Given the description of an element on the screen output the (x, y) to click on. 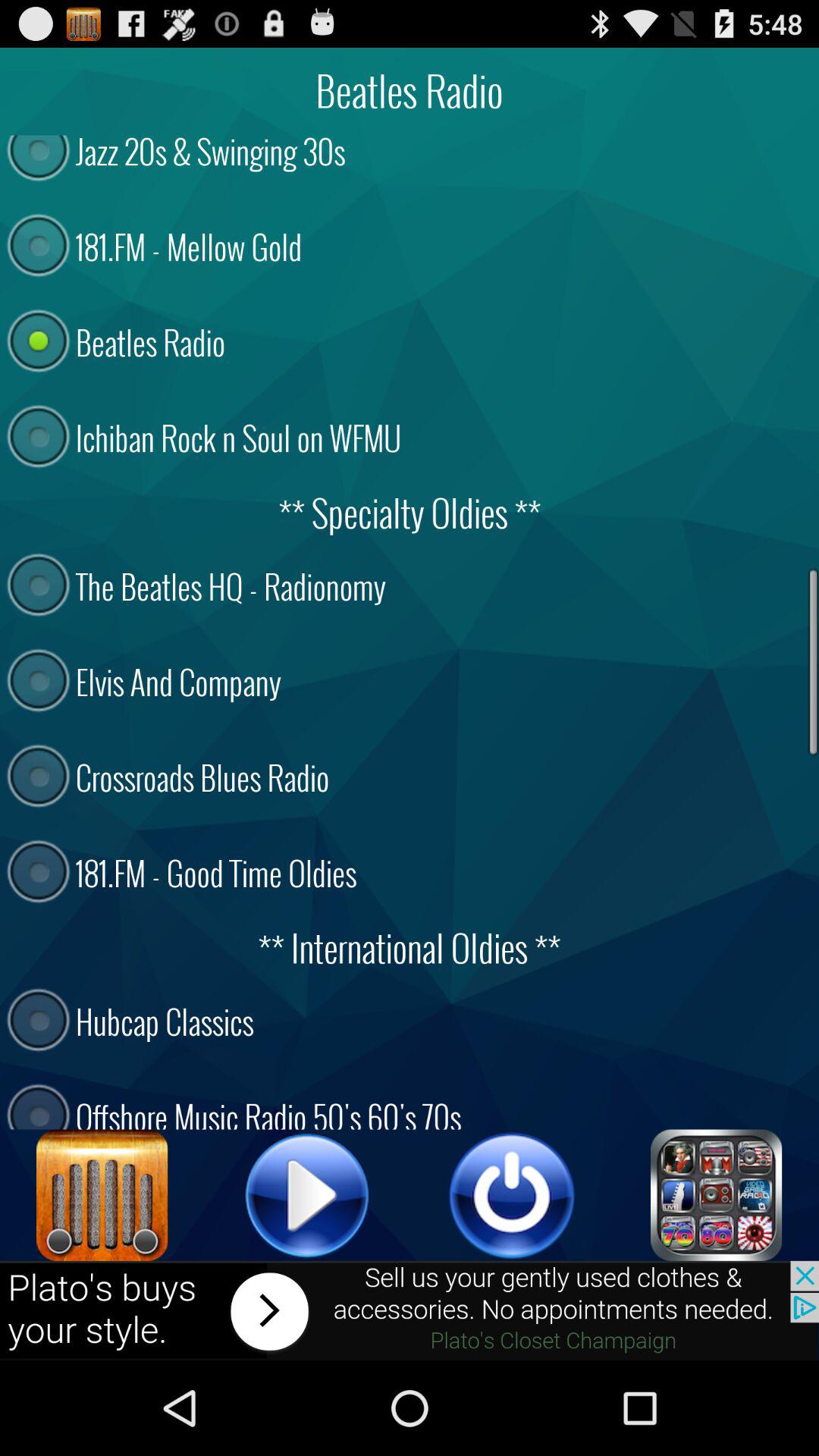
play button (306, 1194)
